Given the description of an element on the screen output the (x, y) to click on. 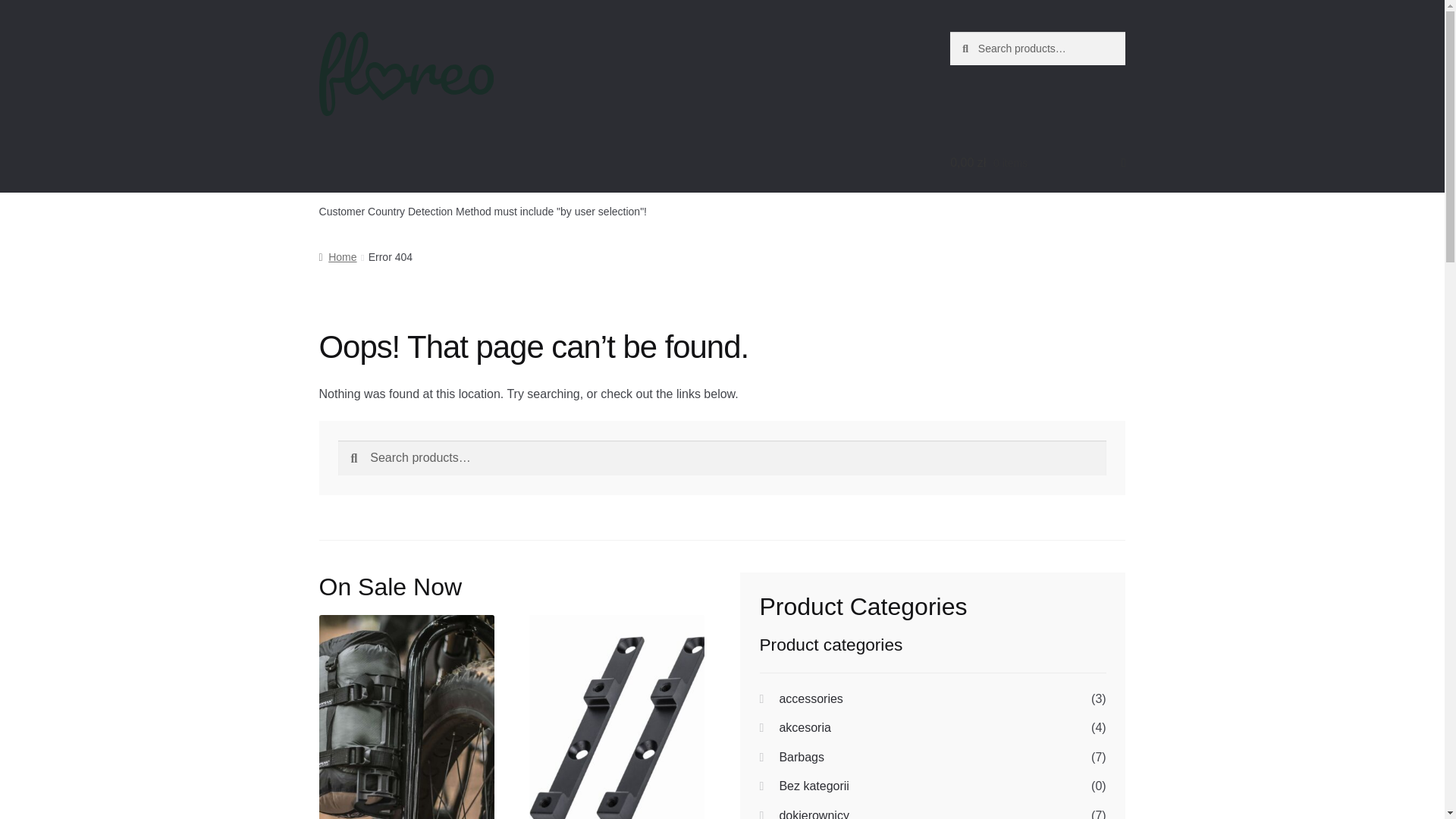
View your shopping cart (1037, 162)
